Given the description of an element on the screen output the (x, y) to click on. 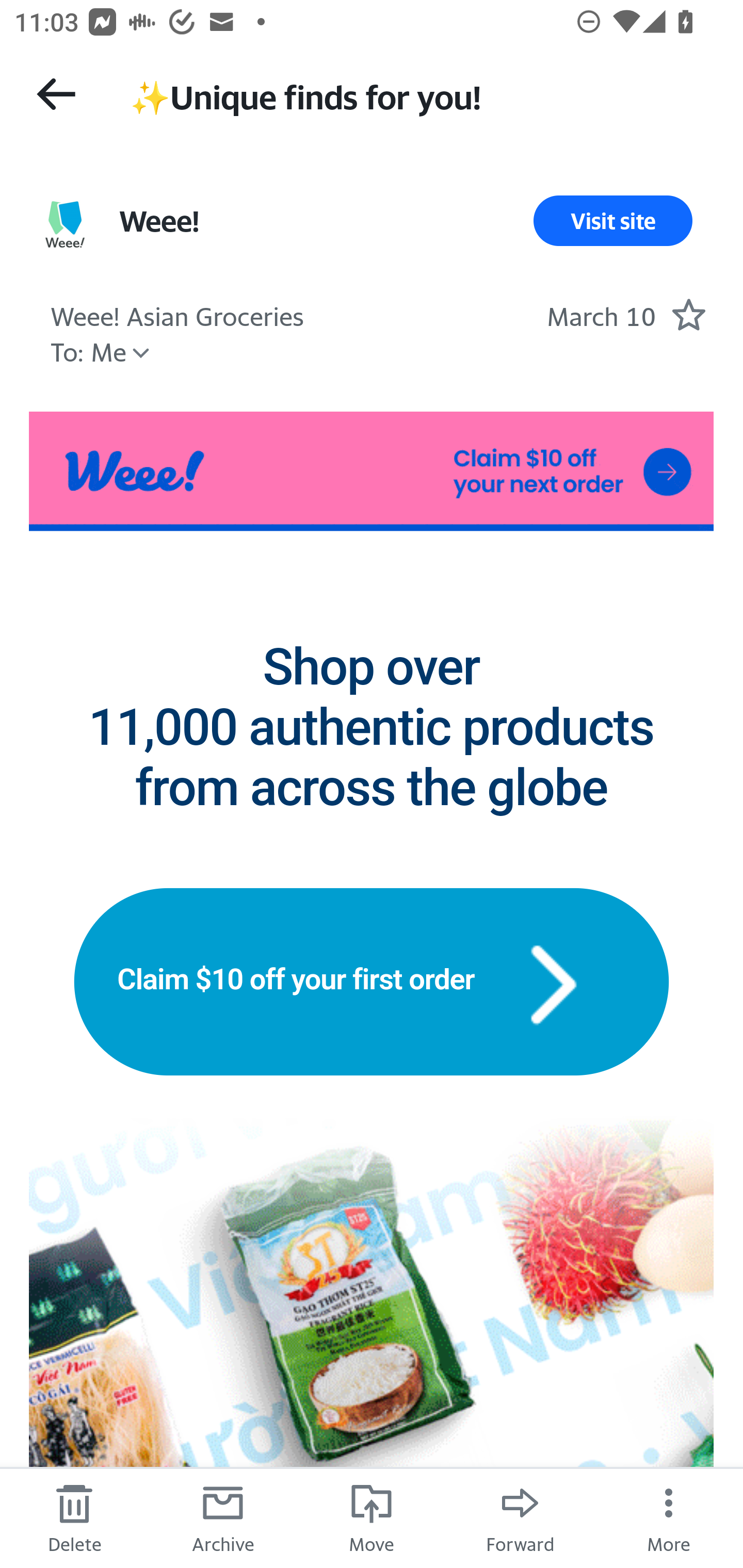
Back (55, 93)
✨Unique finds for you! (418, 94)
View all messages from sender (64, 225)
Visit site Visit Site Link (612, 221)
Weee! Sender Weee! (158, 220)
Weee! Asian Groceries Sender Weee! Asian Groceries (176, 314)
Mark as starred. (688, 314)
click?upn=u001 (371, 470)
carat (553, 980)
Delete (74, 1517)
Archive (222, 1517)
Move (371, 1517)
Forward (519, 1517)
More (668, 1517)
